Given the description of an element on the screen output the (x, y) to click on. 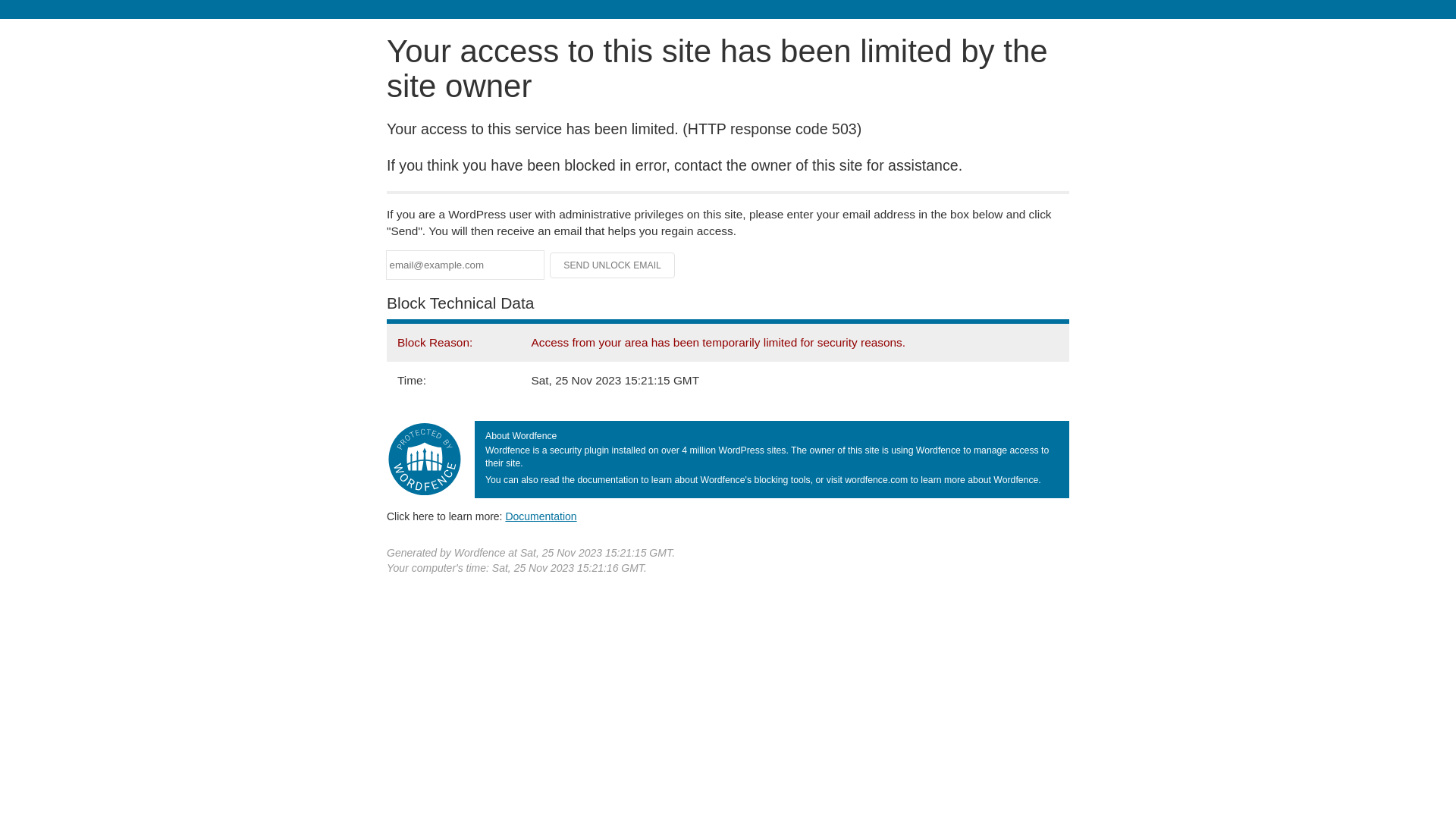
Send Unlock Email Element type: text (612, 265)
Documentation Element type: text (540, 516)
